Given the description of an element on the screen output the (x, y) to click on. 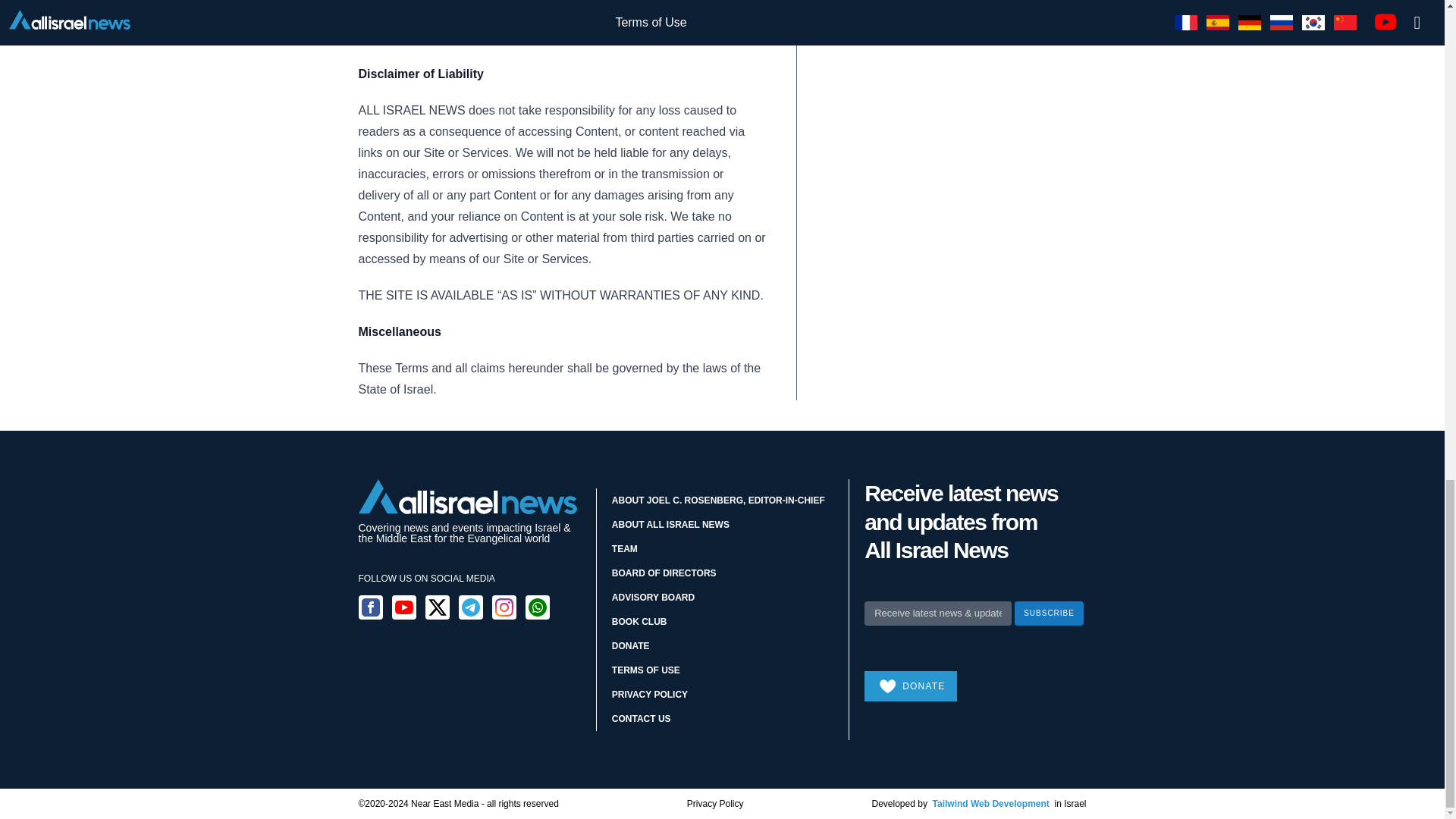
BOARD OF DIRECTORS (663, 573)
Telegram (469, 607)
ABOUT ALL ISRAEL NEWS (670, 524)
CONTACT US (641, 718)
Whatsapp (536, 607)
BOOK CLUB (638, 621)
Youtube (402, 607)
DONATE (630, 645)
TERMS OF USE (645, 670)
PRIVACY POLICY (649, 694)
